Given the description of an element on the screen output the (x, y) to click on. 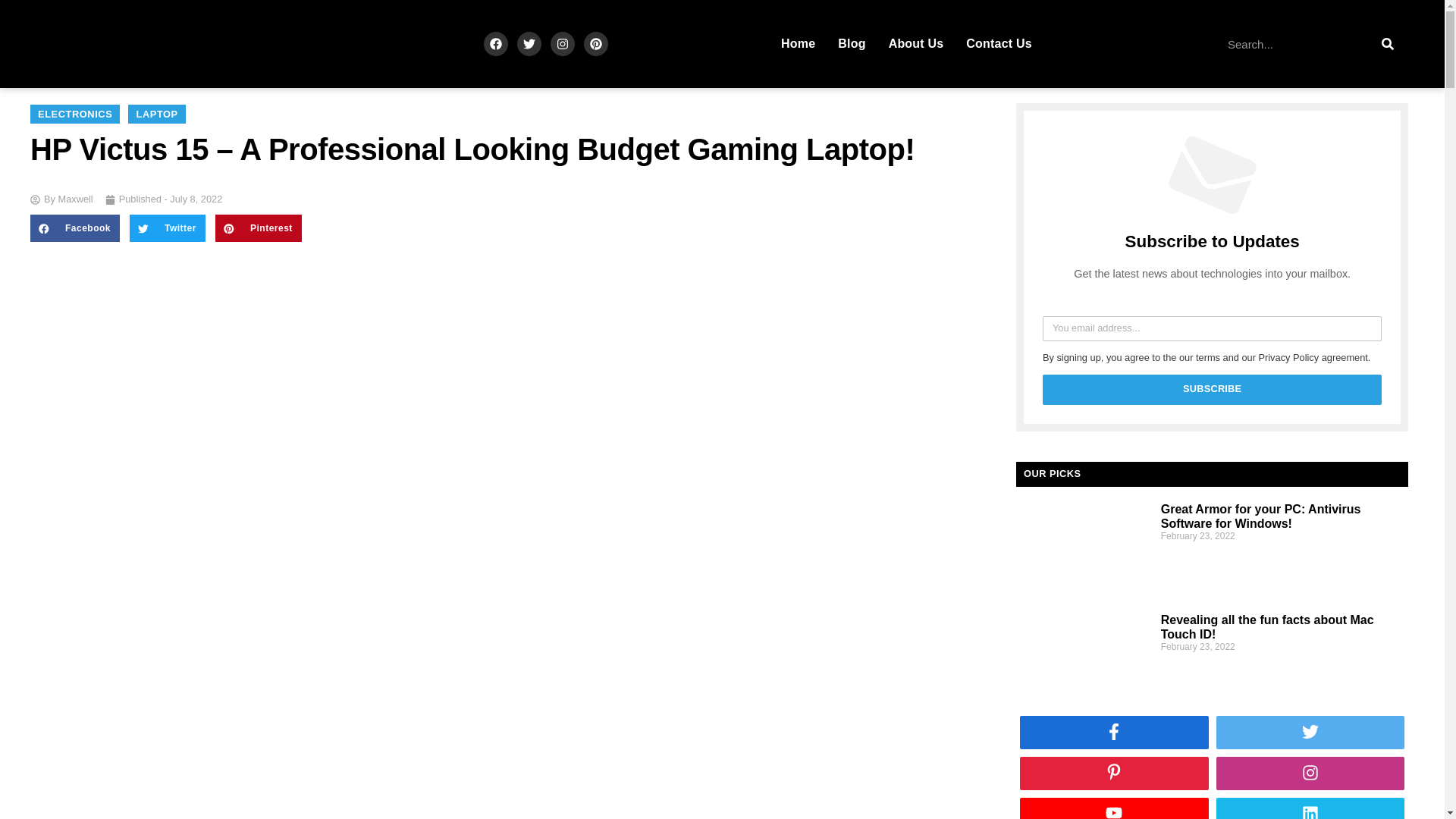
Home (797, 43)
LAPTOP (156, 113)
By Maxwell (61, 198)
Contact Us (998, 43)
ELECTRONICS (74, 113)
About Us (915, 43)
